Given the description of an element on the screen output the (x, y) to click on. 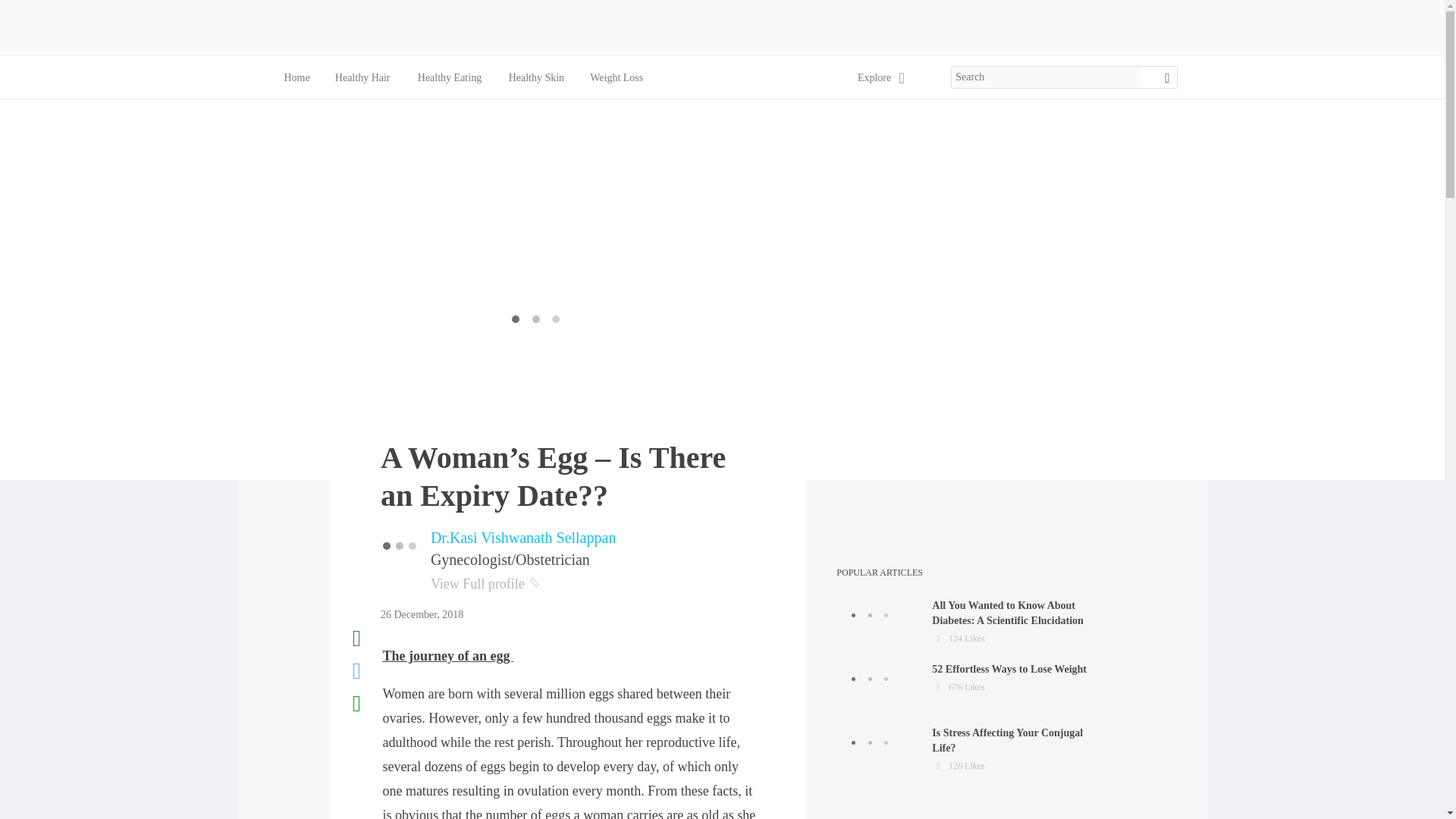
Weight Loss (616, 77)
Weight Loss (616, 77)
Healthy Skin (977, 750)
Healthy Eating (535, 77)
Explore (450, 77)
Healthy Hair (874, 77)
Healthy Eating (362, 77)
Home (449, 77)
Healthy Hair (977, 686)
Healthy Skin (295, 77)
Dr.Kasi Vishwanath Sellappan (362, 77)
